Given the description of an element on the screen output the (x, y) to click on. 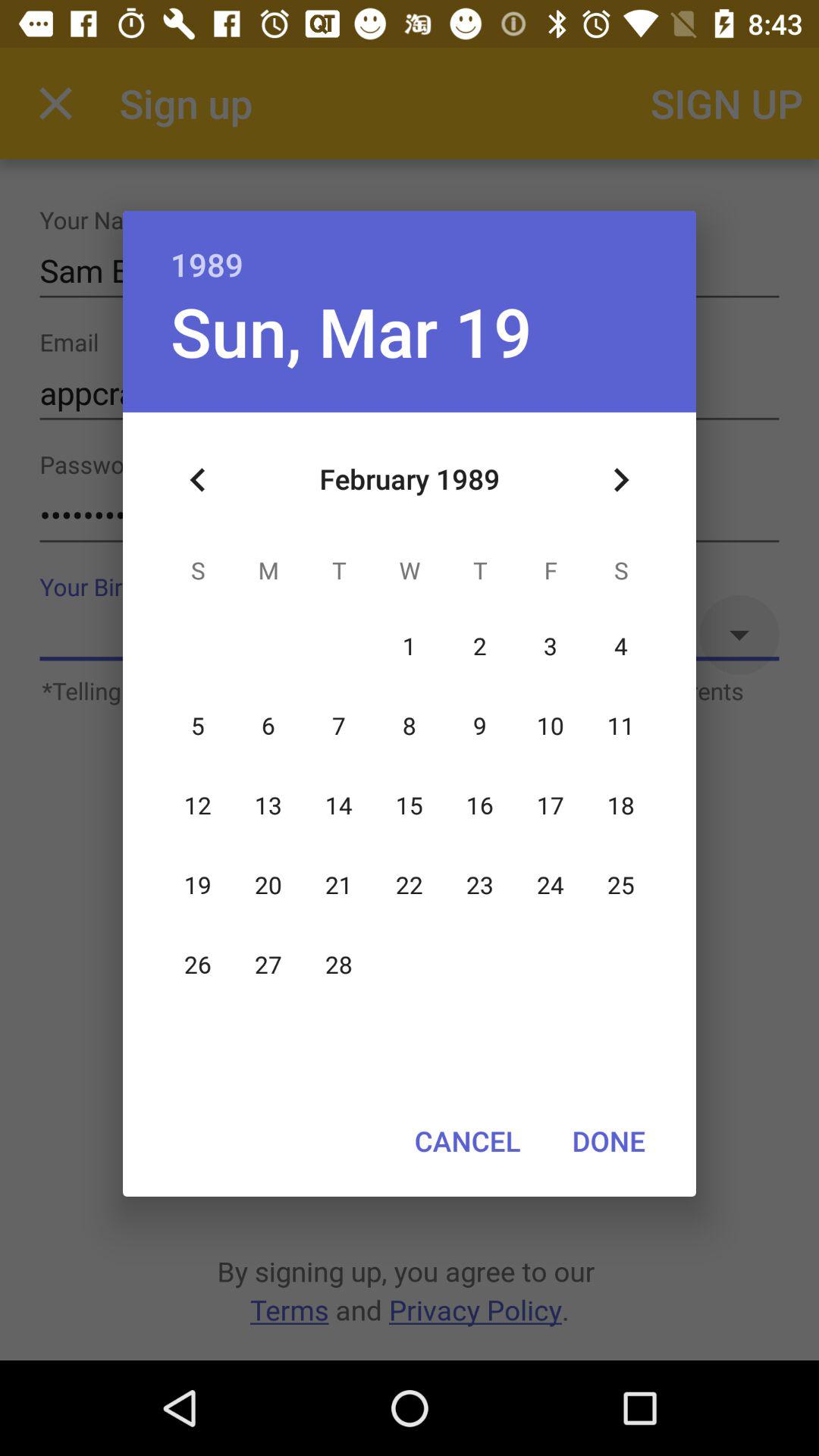
swipe to 1989 icon (409, 248)
